Given the description of an element on the screen output the (x, y) to click on. 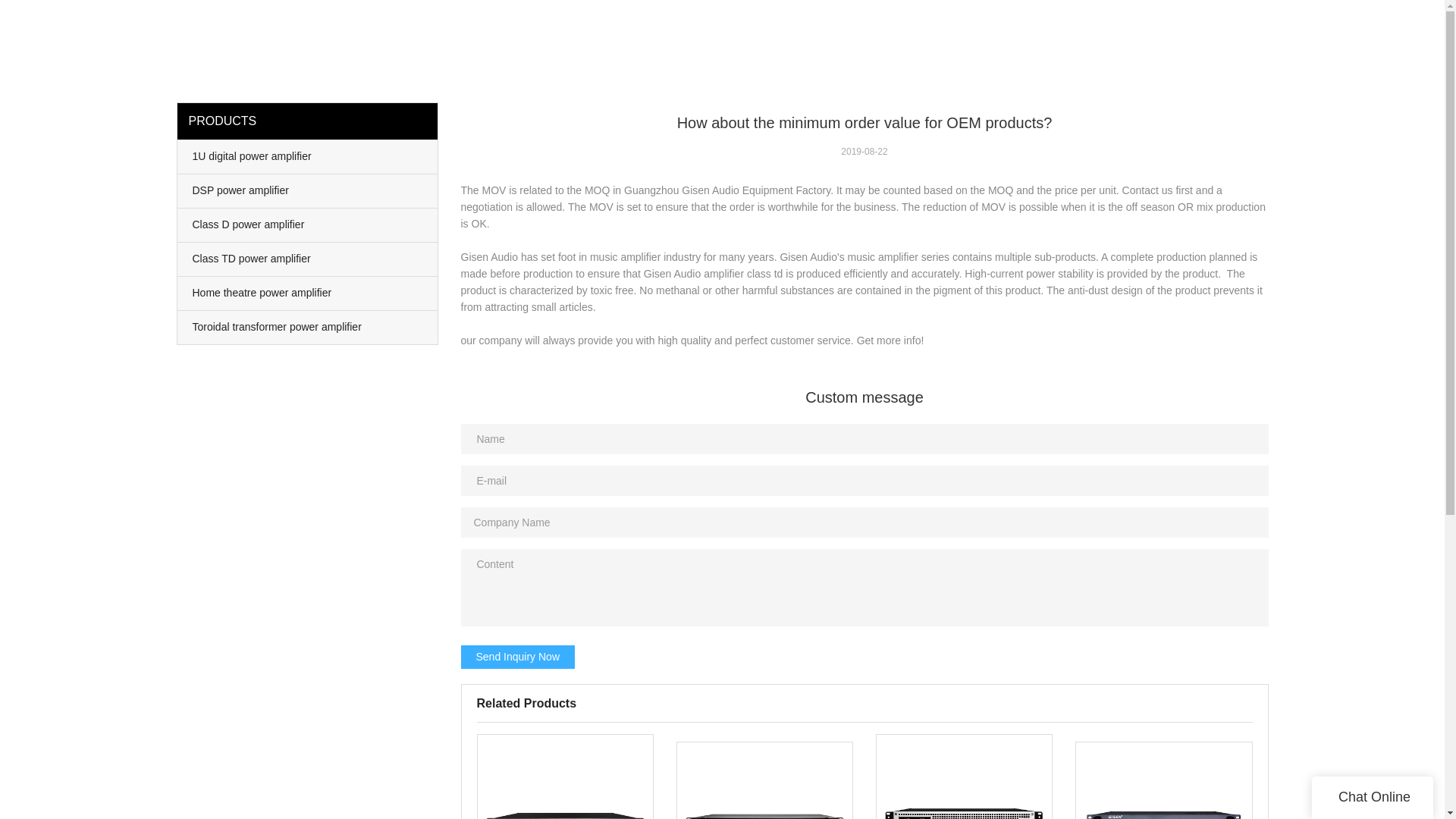
Home theatre digital power amplifier (1163, 780)
Toroidal transformer power amplifier (307, 327)
Send Inquiry Now (518, 656)
DSP power amplifier (307, 191)
Traditional transformer power supply amplifier (964, 776)
Class TD power amplifier (307, 259)
Home theatre power amplifier (307, 293)
1U digital power amplifier (307, 156)
PRODUCTS (1052, 30)
CONTACT US (1330, 30)
